Given the description of an element on the screen output the (x, y) to click on. 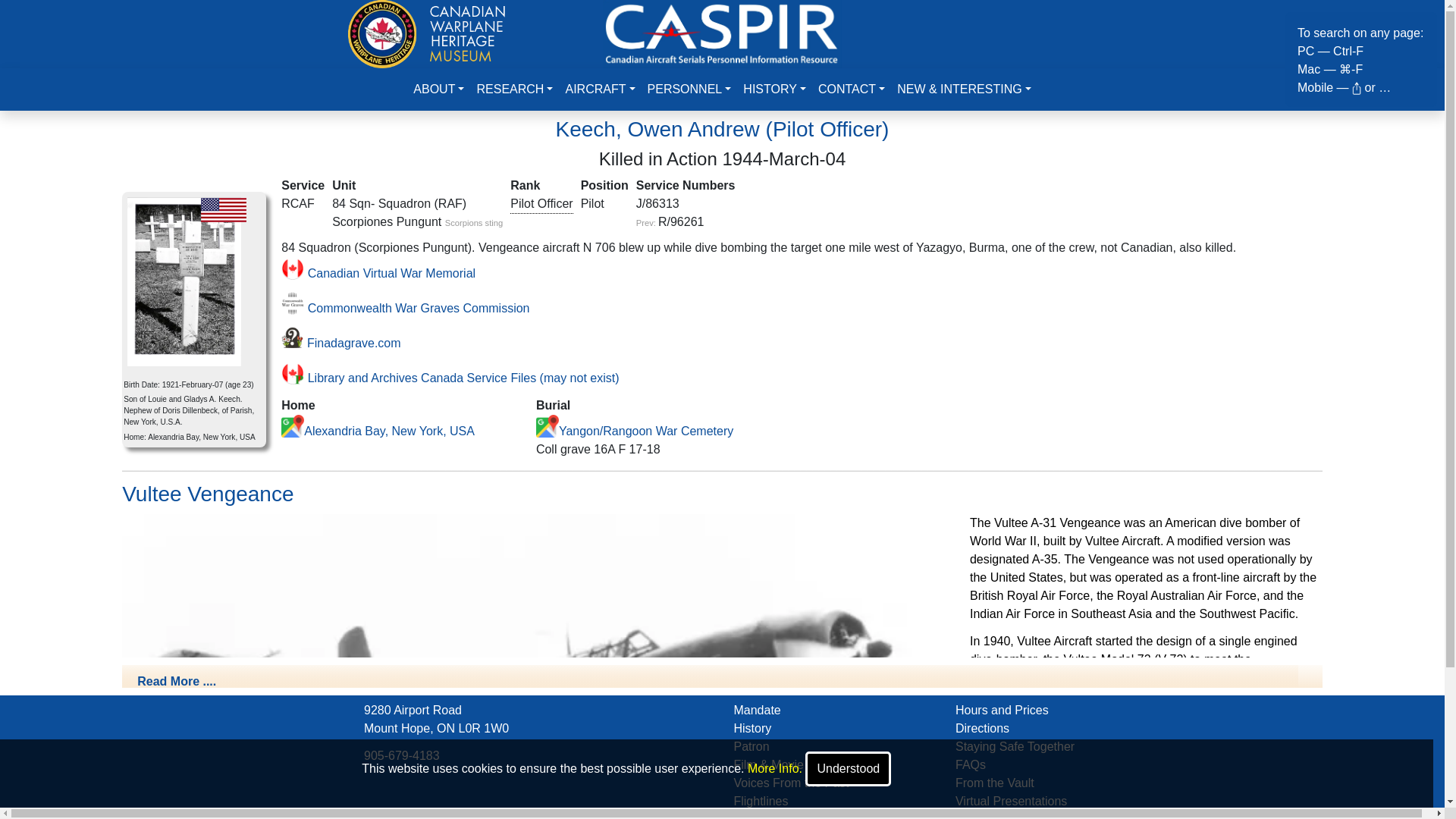
Click for Google Map (292, 425)
ABOUT (438, 89)
USA (223, 209)
Click for Google Map (547, 425)
HISTORY (774, 89)
Refresh Page (722, 32)
AIRCRAFT (599, 89)
Return to our Home Page (426, 32)
PERSONNEL (690, 89)
RESEARCH (514, 89)
